Given the description of an element on the screen output the (x, y) to click on. 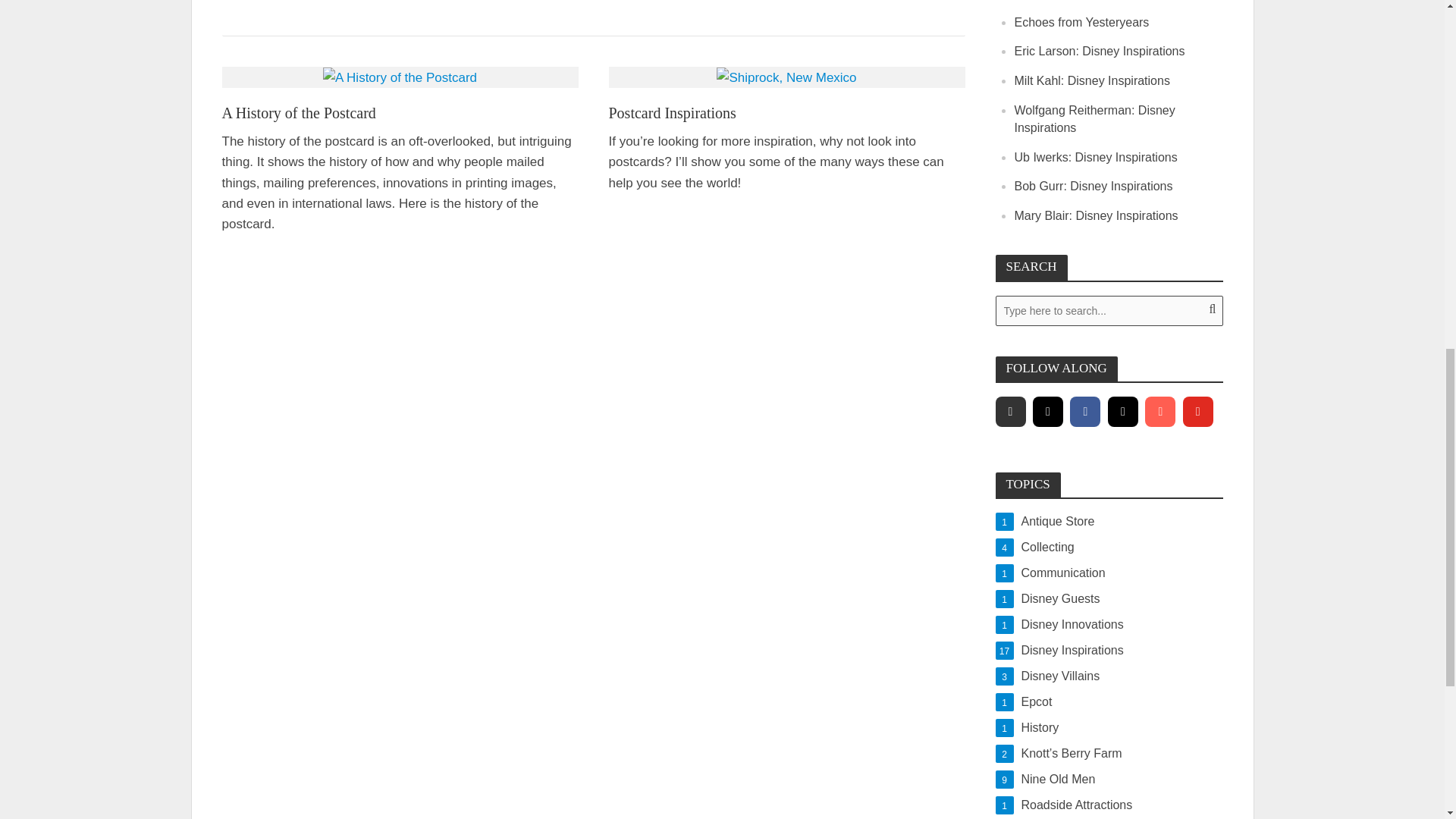
A History of the Postcard (400, 76)
Postcard Inspirations (785, 113)
Echoes from Yesteryears (1082, 21)
Mail (1108, 521)
Mary Blair: Disney Inspirations (1123, 411)
iTunes (1095, 215)
mail (1159, 411)
Instagram (1108, 573)
